Given the description of an element on the screen output the (x, y) to click on. 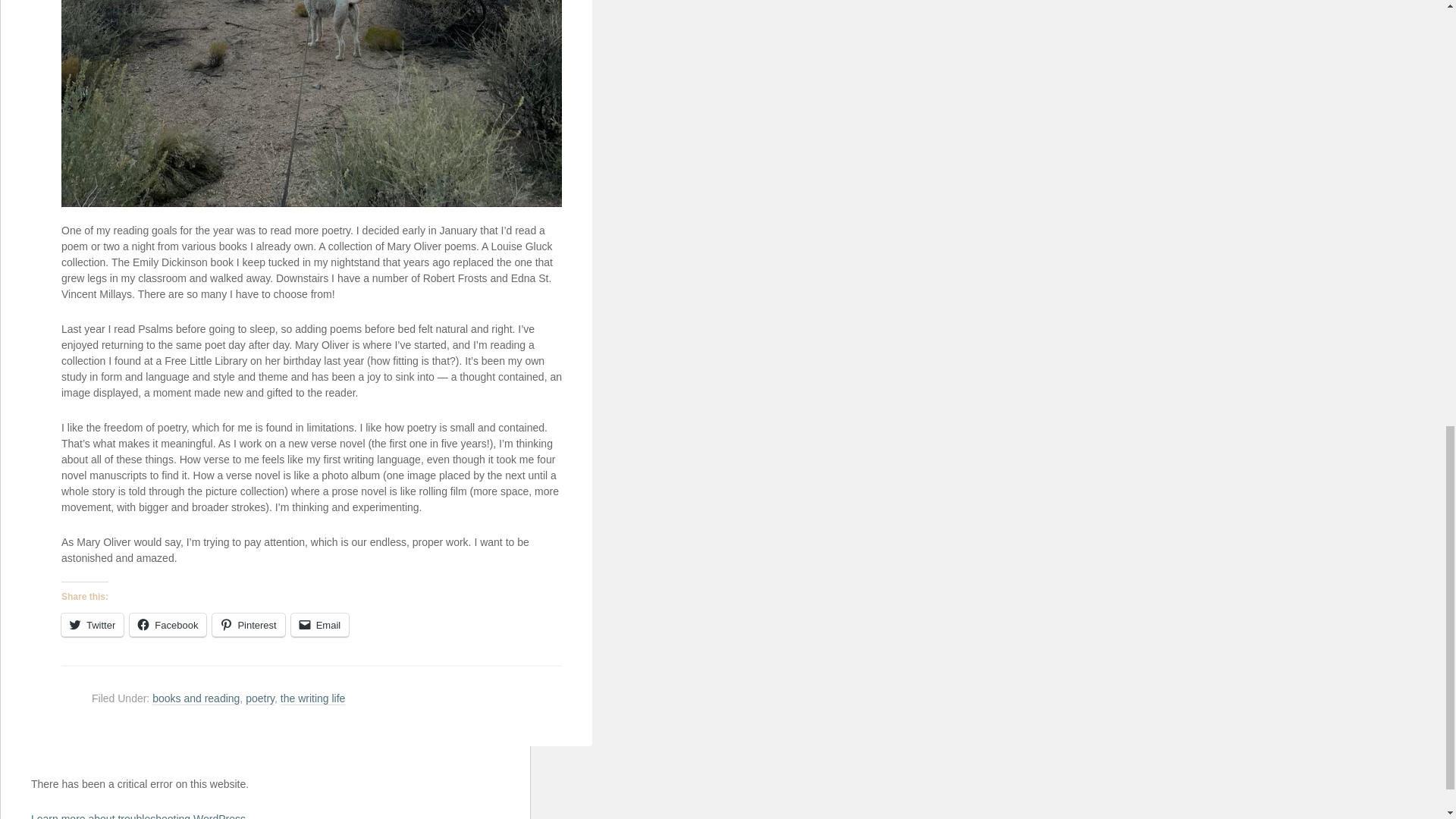
the writing life (313, 698)
books and reading (196, 698)
Click to share on Twitter (92, 625)
Email (320, 625)
Pinterest (247, 625)
Twitter (92, 625)
Click to email a link to a friend (320, 625)
Facebook (167, 625)
Click to share on Pinterest (247, 625)
Click to share on Facebook (167, 625)
